Given the description of an element on the screen output the (x, y) to click on. 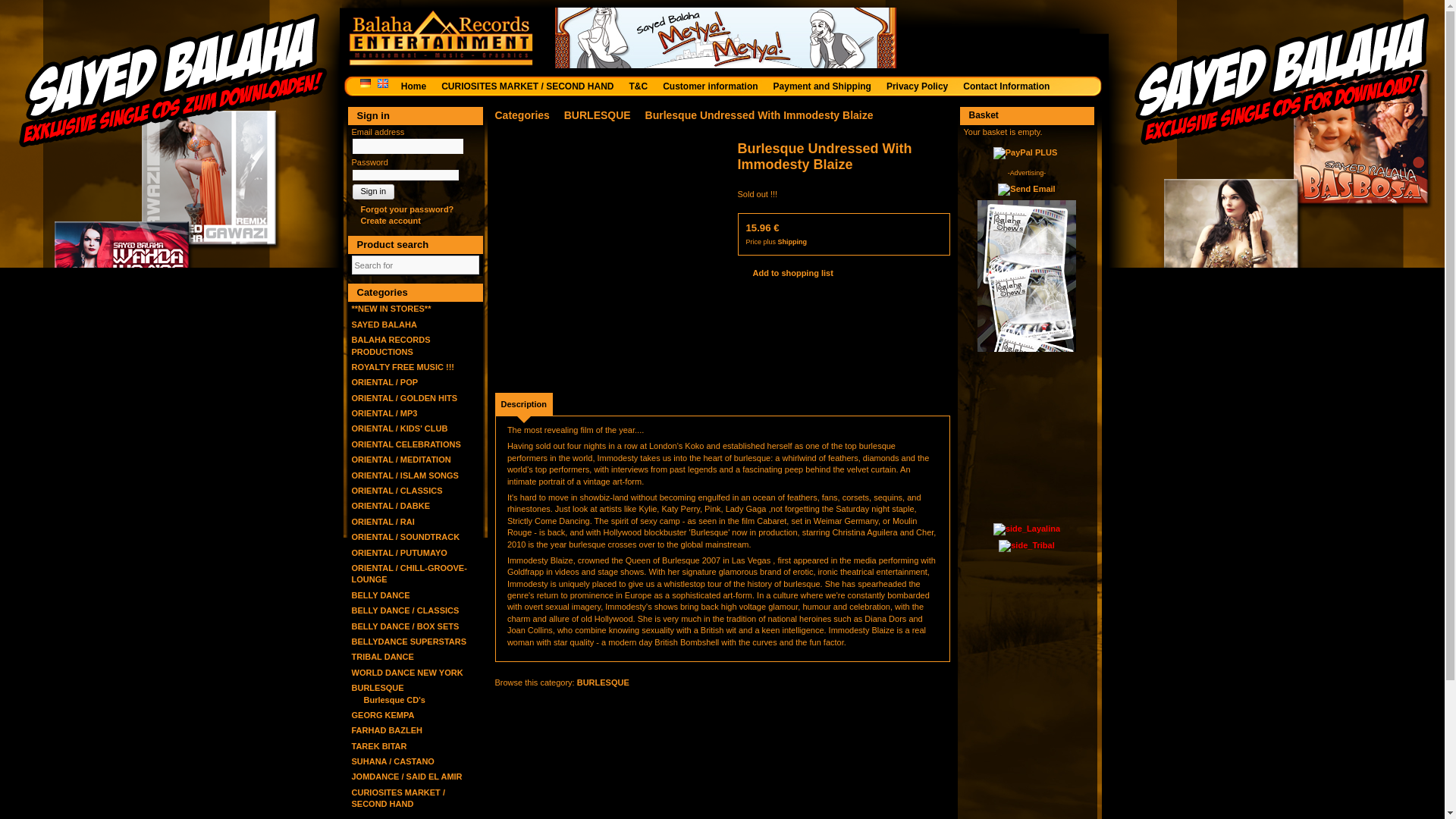
BELLYDANCE SUPERSTARS (409, 641)
Sign in (373, 191)
BALAHA RECORDS PRODUCTIONS (391, 344)
Privacy Policy (920, 85)
ROYALTY FREE MUSIC !!! (403, 366)
Payment and Shipping (826, 85)
Forgot your password? (403, 208)
Add to shopping list (784, 272)
Customer information (713, 85)
Contact Information (1009, 85)
